Given the description of an element on the screen output the (x, y) to click on. 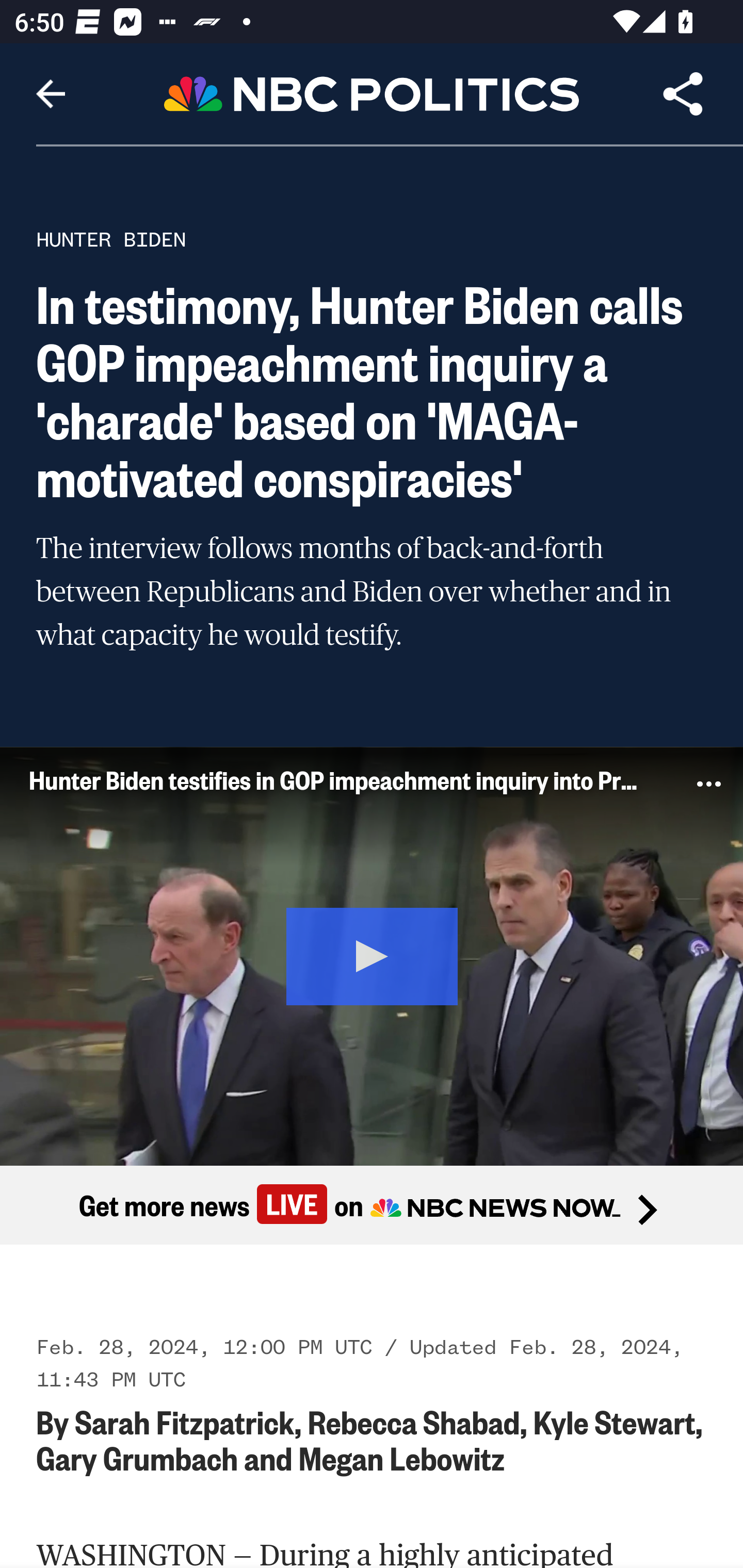
Navigate up (50, 93)
Share Article, button (683, 94)
Header, NBC Politics (371, 93)
HUNTER BIDEN (110, 239)
Video Player Play   (371, 955)
Play (372, 954)
Get more news Live on Get more news Live on (371, 1203)
